Given the description of an element on the screen output the (x, y) to click on. 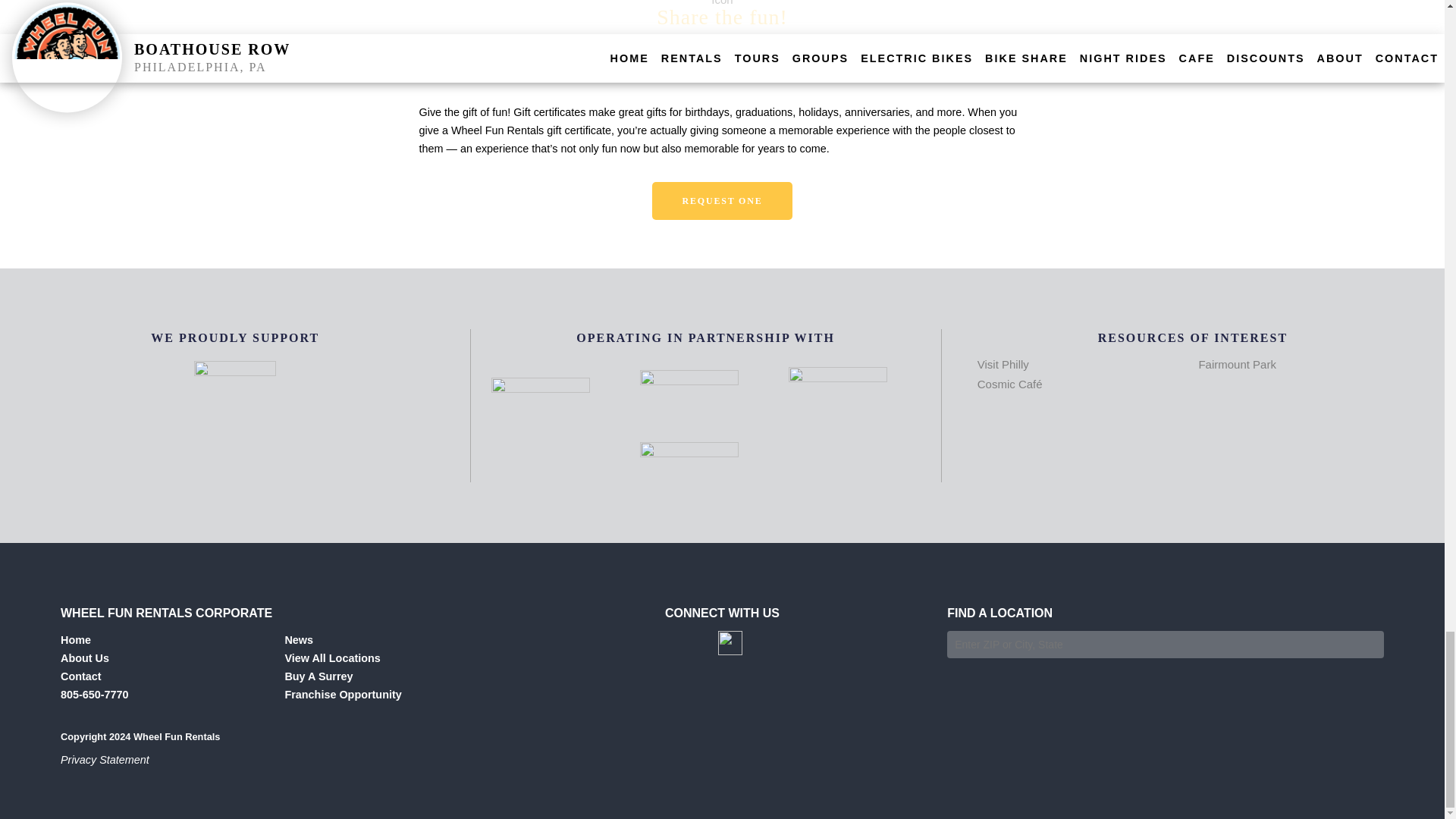
Purchase a Quadricycle (317, 676)
Visit Philly (1002, 364)
All Rental Locations (331, 657)
Home (75, 639)
About Wheel Fun Rentals (85, 657)
REQUEST ONE (722, 200)
